Given the description of an element on the screen output the (x, y) to click on. 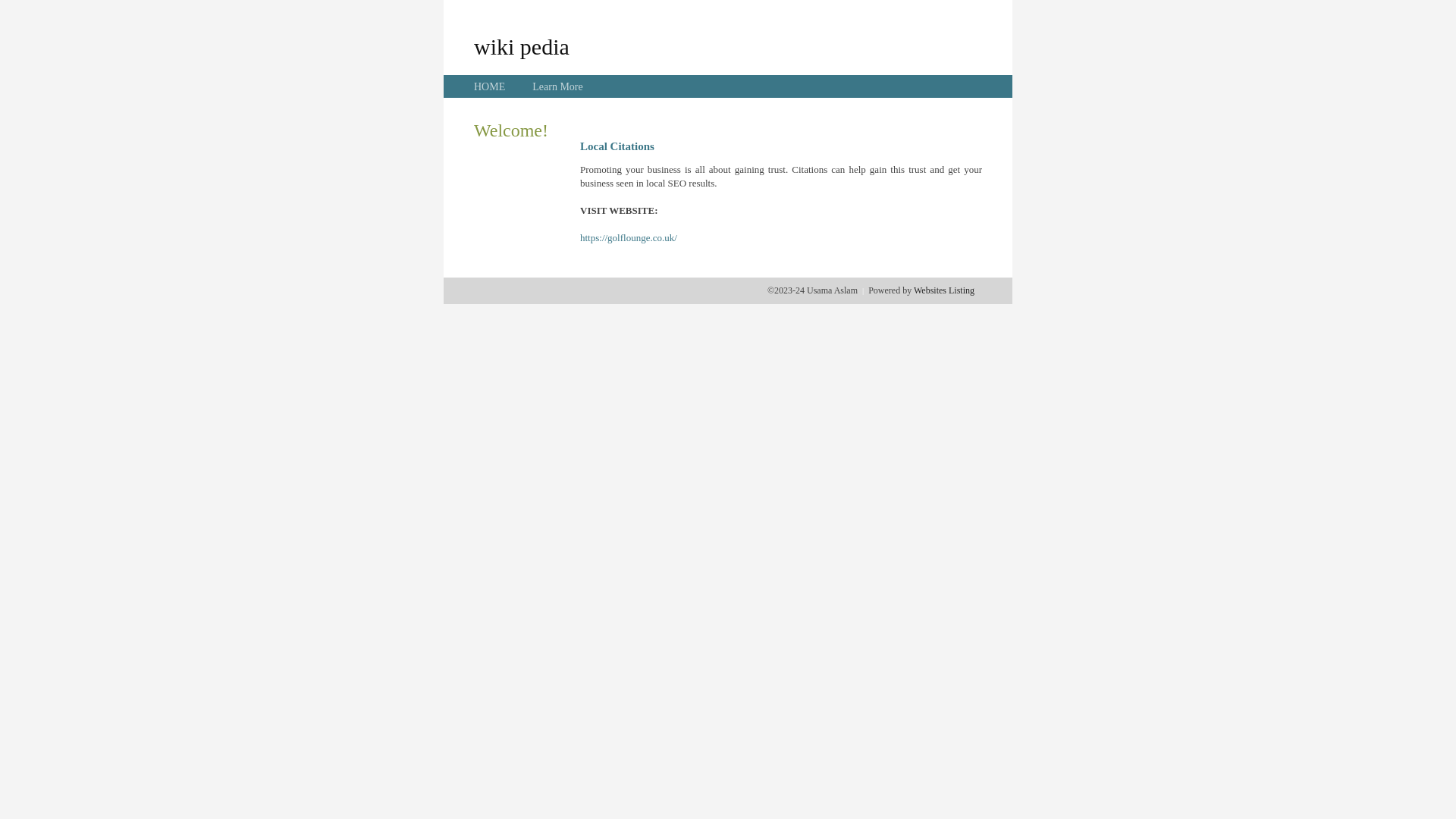
wiki pedia Element type: text (521, 46)
HOME Element type: text (489, 86)
https://golflounge.co.uk/ Element type: text (628, 237)
Websites Listing Element type: text (943, 290)
Learn More Element type: text (557, 86)
